Given the description of an element on the screen output the (x, y) to click on. 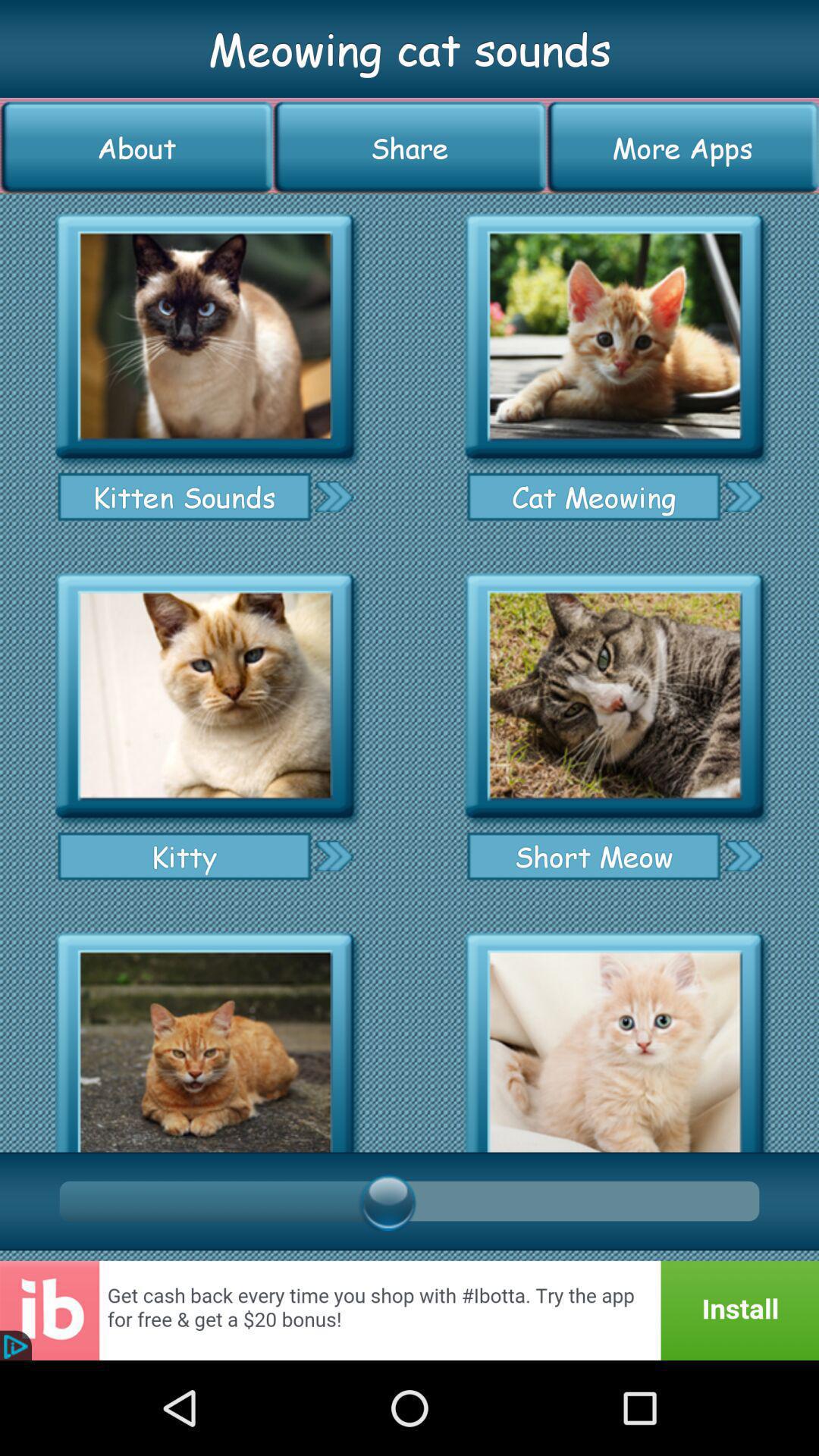
play short meow sound (743, 855)
